Given the description of an element on the screen output the (x, y) to click on. 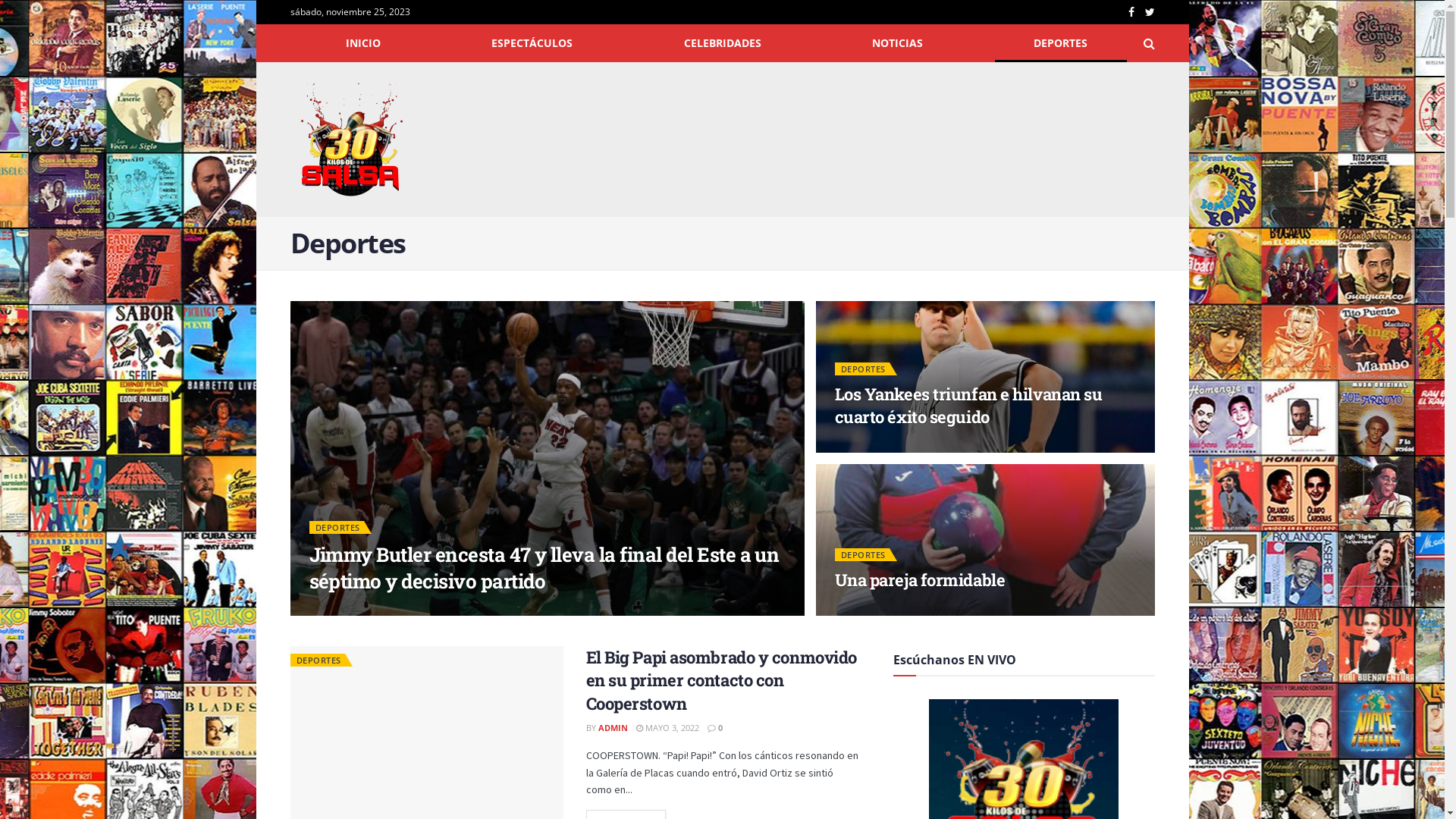
NOTICIAS Element type: text (897, 43)
0 Element type: text (713, 727)
Una pareja formidable Element type: text (919, 579)
INICIO Element type: text (362, 43)
DEPORTES Element type: text (861, 554)
DEPORTES Element type: text (1060, 43)
DEPORTES Element type: text (336, 526)
MAYO 3, 2022 Element type: text (666, 727)
DEPORTES Element type: text (861, 368)
CELEBRIDADES Element type: text (721, 43)
DEPORTES Element type: text (316, 659)
ADMIN Element type: text (612, 727)
